Given the description of an element on the screen output the (x, y) to click on. 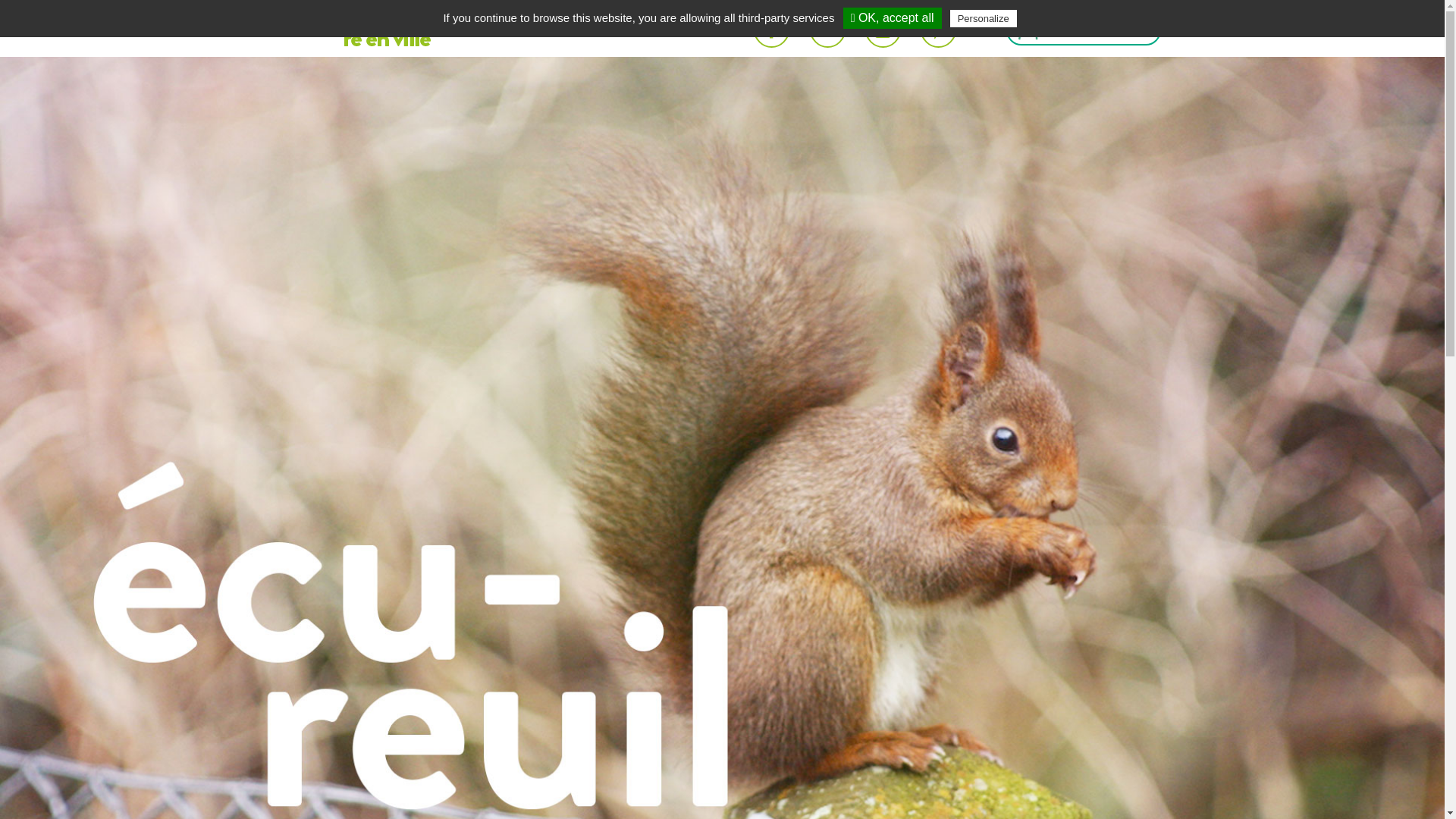
Partager cet article sur Facebook Element type: hover (771, 29)
Partager une image de cette publication sur Pinterest Element type: hover (938, 29)
Partager cet article sur LinkedIn Element type: hover (882, 29)
Personalize Element type: text (983, 18)
Partager cet article sur Twitter Element type: hover (827, 29)
mon compte Element type: text (1089, 29)
